Given the description of an element on the screen output the (x, y) to click on. 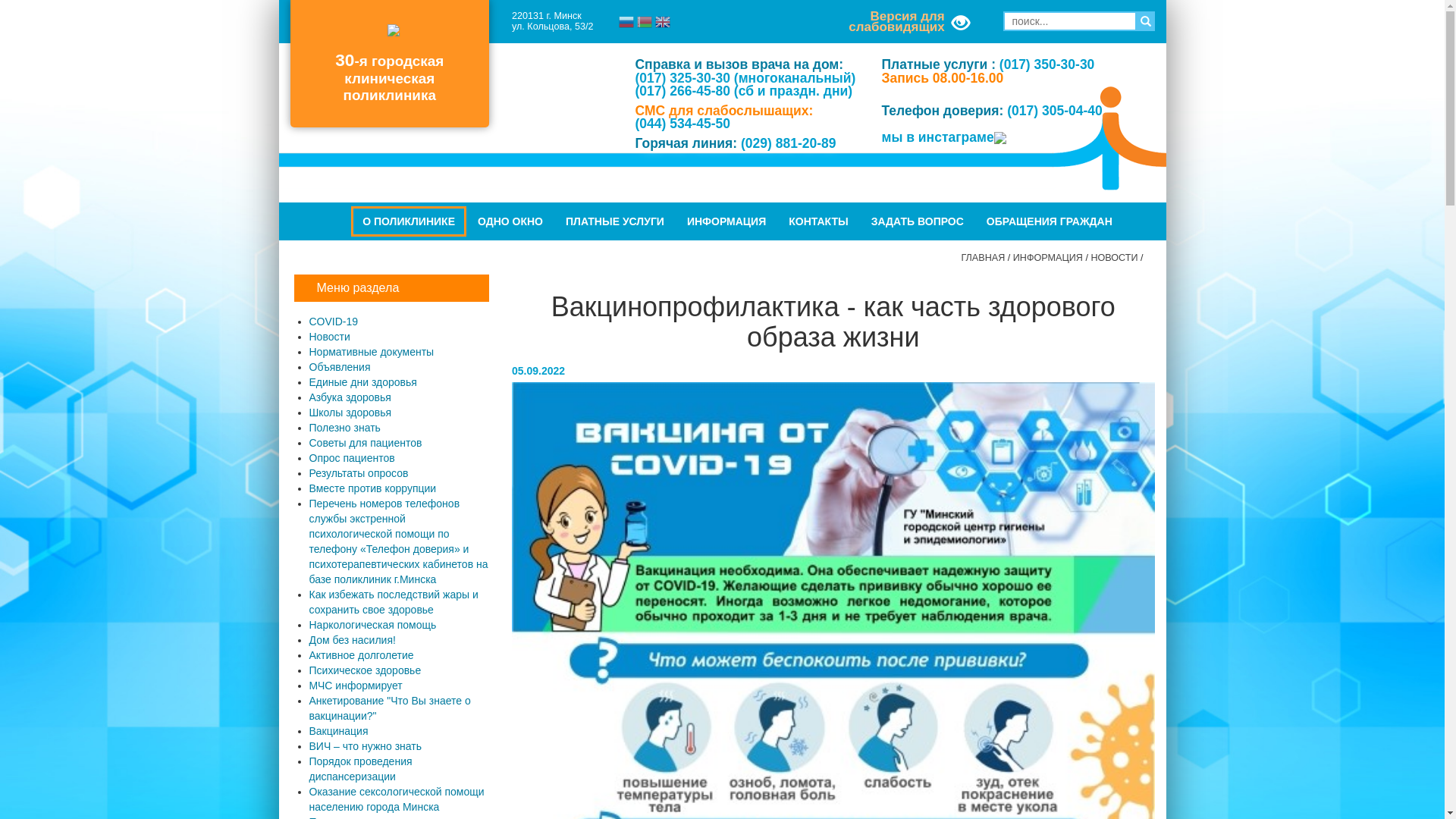
(044) 534-45-50 Element type: text (682, 123)
COVID-19 Element type: text (333, 321)
(017) 305-04-40 Element type: text (1054, 110)
(017) 350-30-30 Element type: text (1047, 64)
(029) 881-20-89 Element type: text (788, 142)
